Given the description of an element on the screen output the (x, y) to click on. 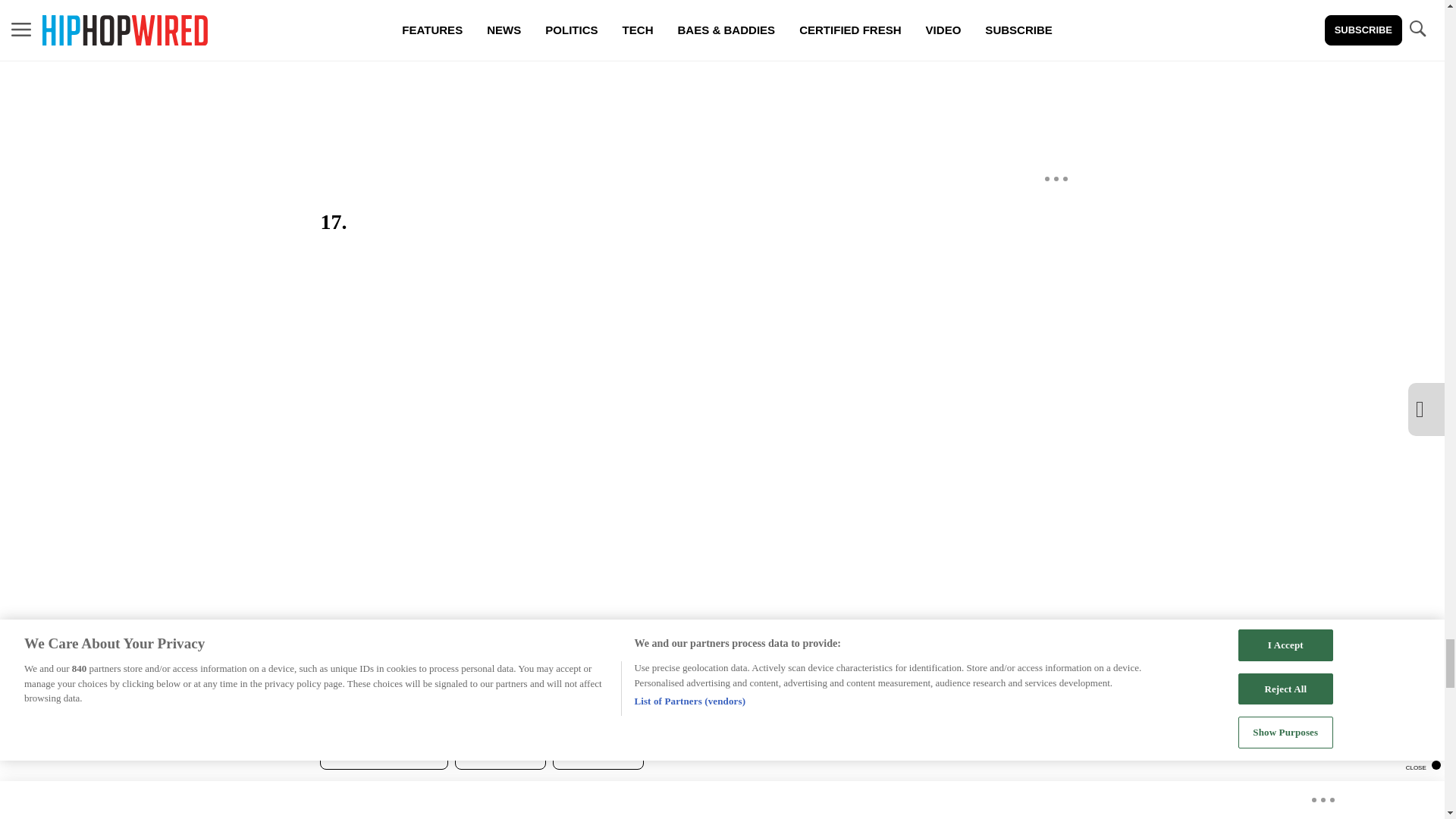
Vuukle Sharebar Widget (585, 794)
NEWSLETTER (598, 755)
DRAKEO THE RULER (384, 755)
LOS ANGELES (500, 755)
